Given the description of an element on the screen output the (x, y) to click on. 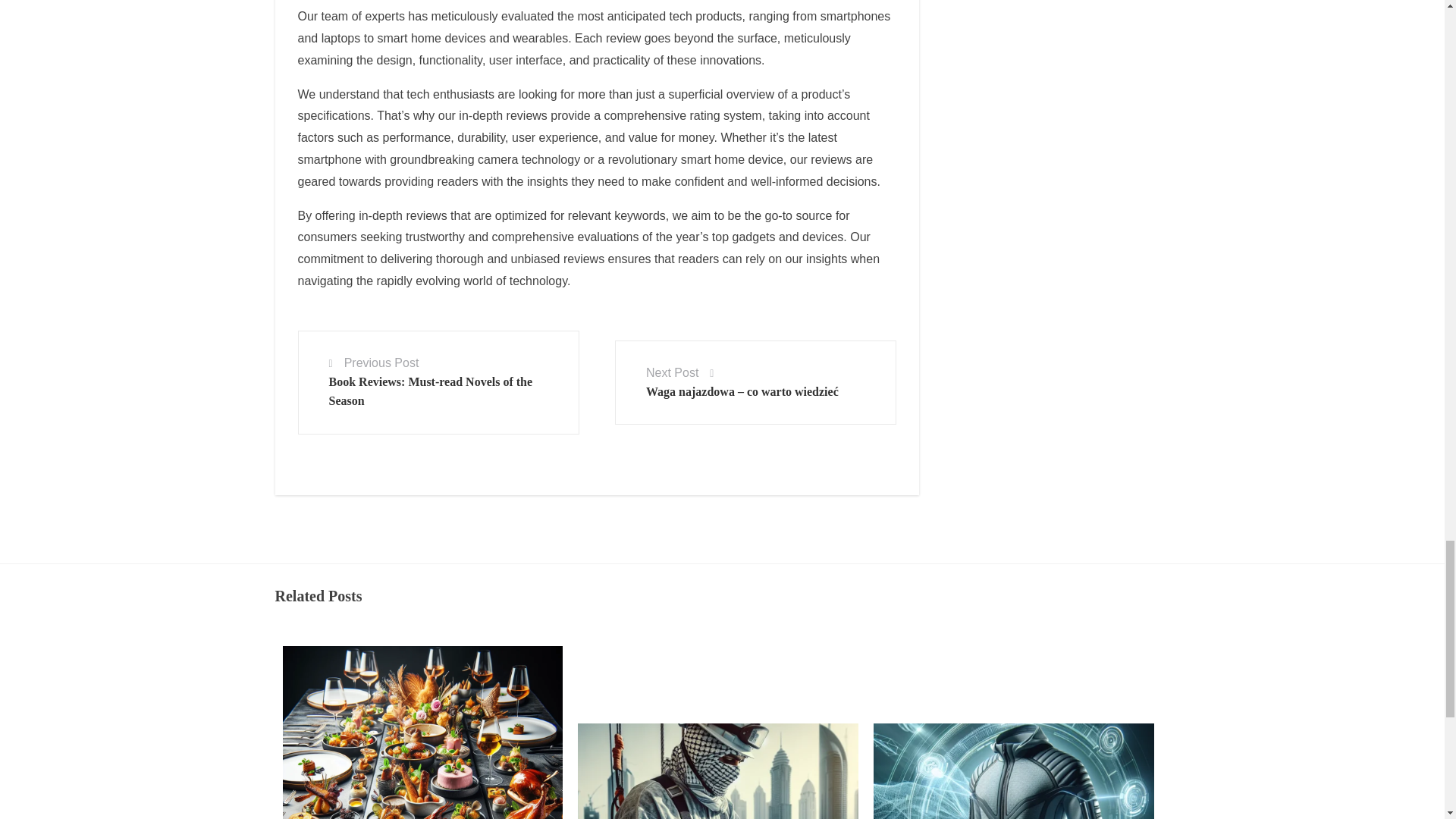
Book Reviews: Must-read Novels of the Season (430, 391)
Next Post (672, 372)
Previous Post (381, 362)
